Given the description of an element on the screen output the (x, y) to click on. 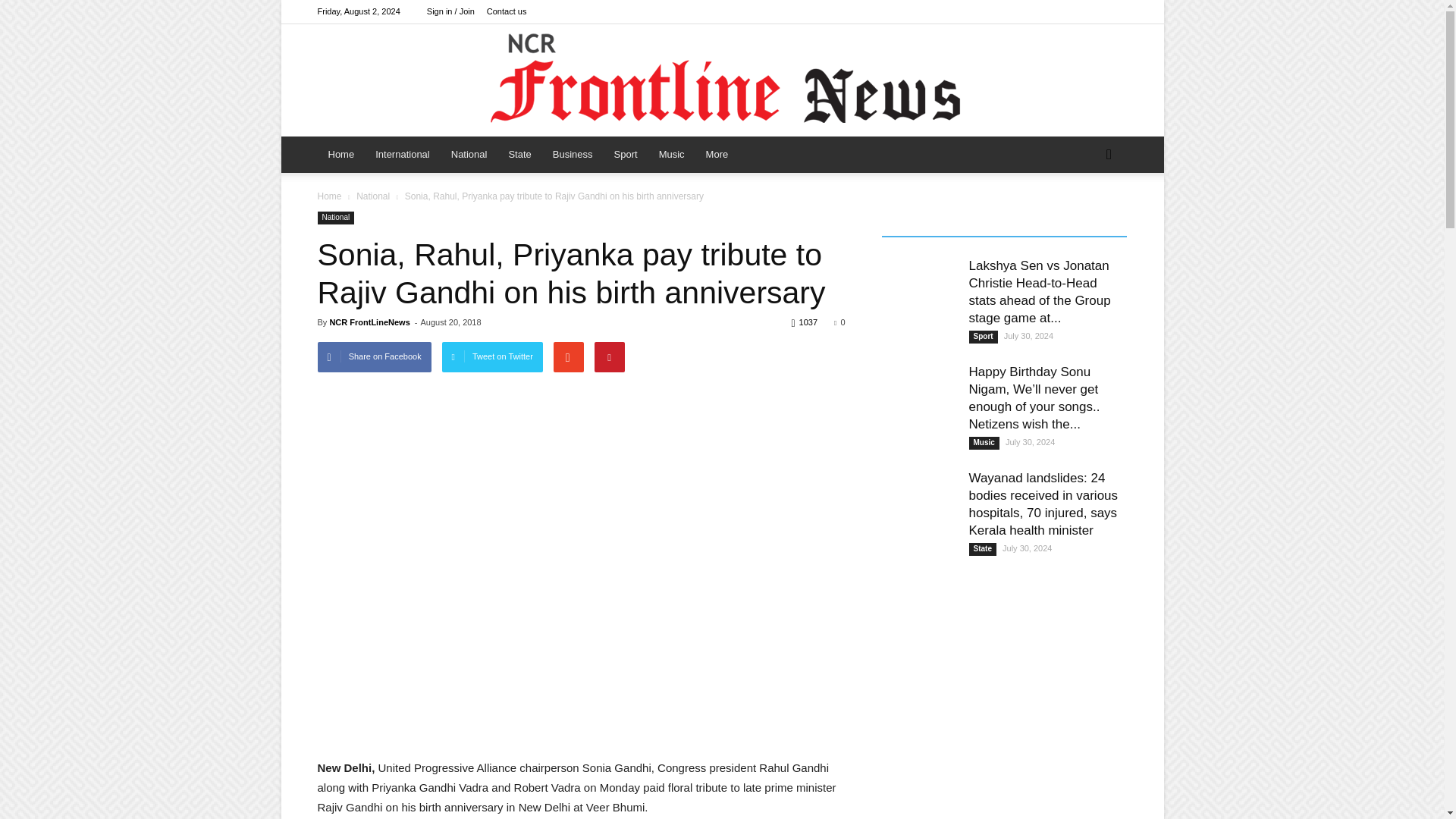
International (403, 154)
Home (341, 154)
Ncr frontline news (722, 80)
Contact us (506, 10)
